Given the description of an element on the screen output the (x, y) to click on. 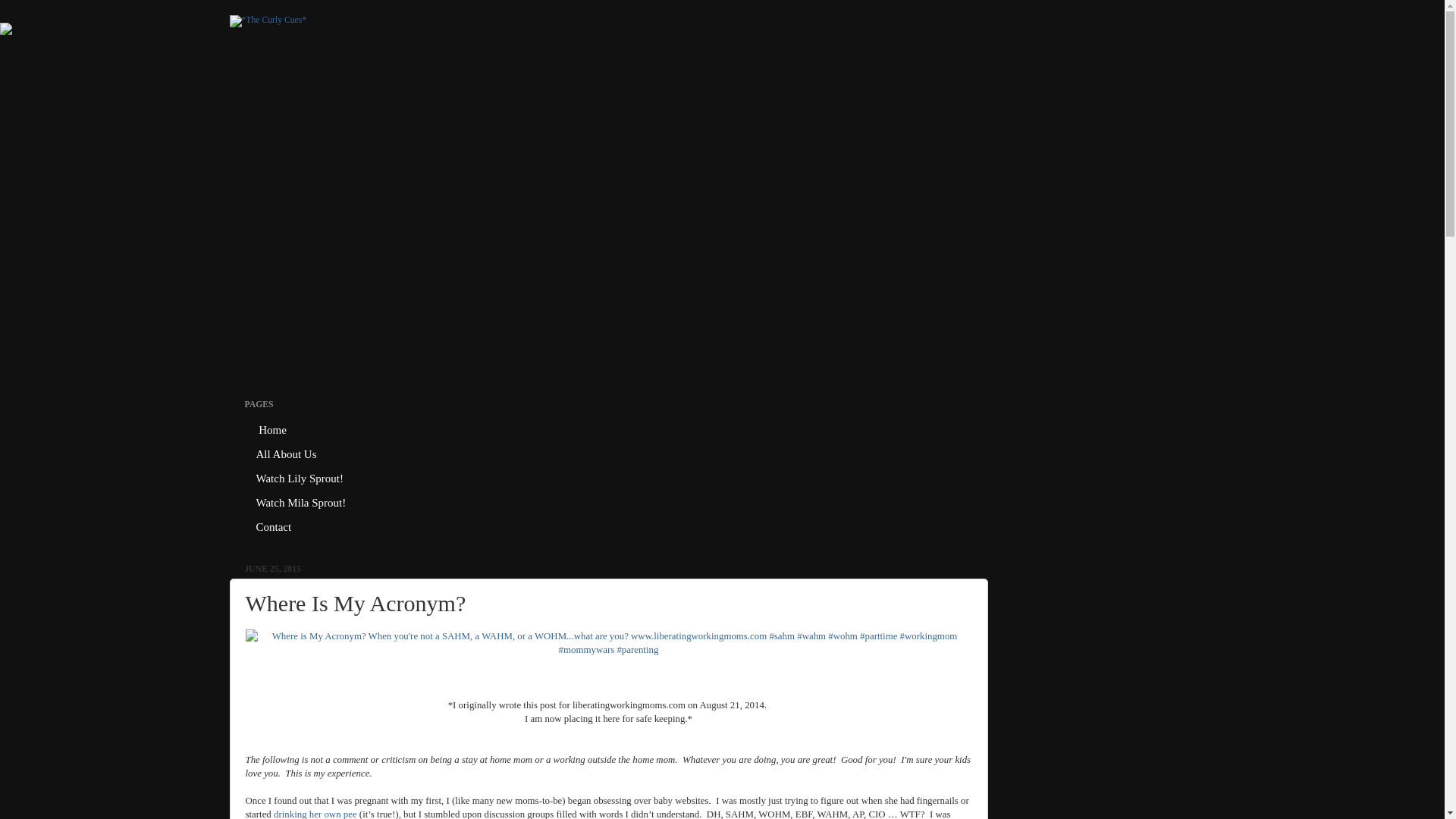
Home (271, 430)
All About Us (286, 454)
Contact (273, 527)
Watch Lily Sprout! (299, 478)
drinking her own pee (314, 814)
Watch Mila Sprout! (301, 503)
